Given the description of an element on the screen output the (x, y) to click on. 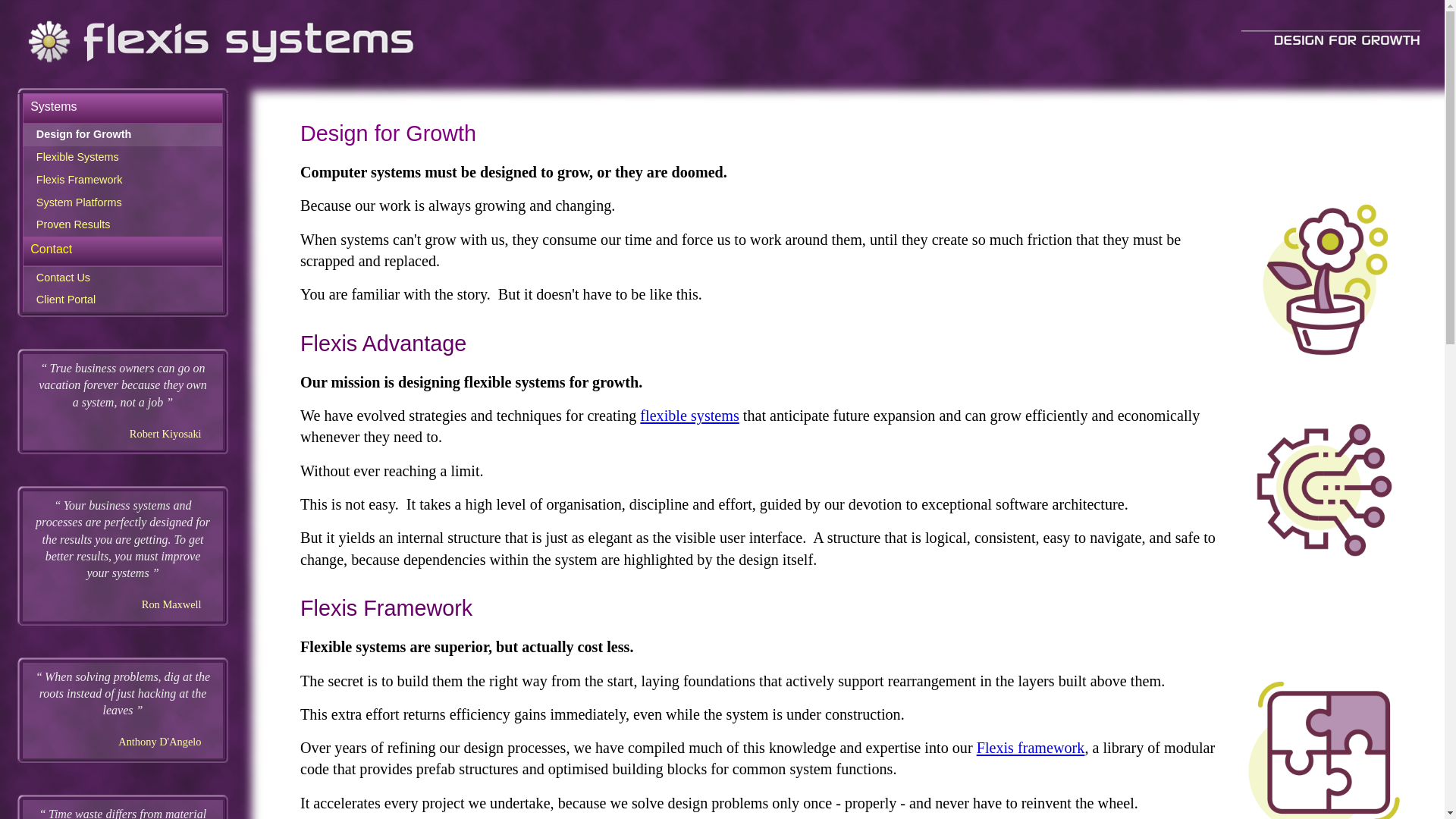
System Platforms Element type: text (122, 202)
Contact Us Element type: text (122, 277)
Flexis framework Element type: text (1030, 747)
Design for Growth Element type: text (122, 134)
Systems Element type: text (122, 106)
Client Portal Element type: text (122, 300)
flexible systems Element type: text (689, 415)
Flexis Framework Element type: text (122, 180)
Proven Results Element type: text (122, 225)
Flexis Framework Element type: text (386, 608)
Flexible Systems Element type: text (122, 157)
Contact Element type: text (122, 249)
Flexis Advantage Element type: text (383, 343)
